Given the description of an element on the screen output the (x, y) to click on. 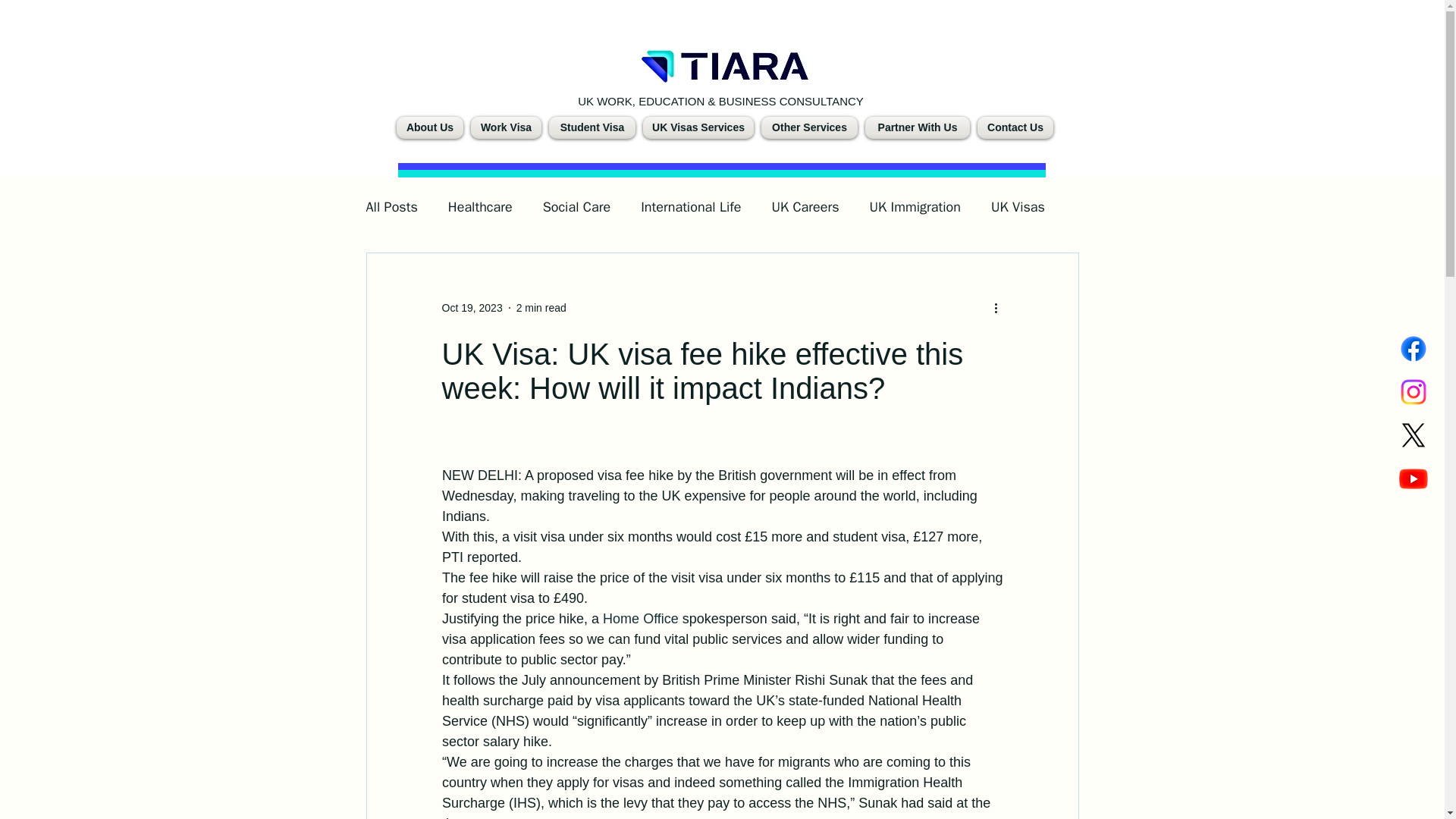
Oct 19, 2023 (471, 307)
Student Visa (591, 127)
Work Visa (505, 127)
2 min read (541, 307)
